Given the description of an element on the screen output the (x, y) to click on. 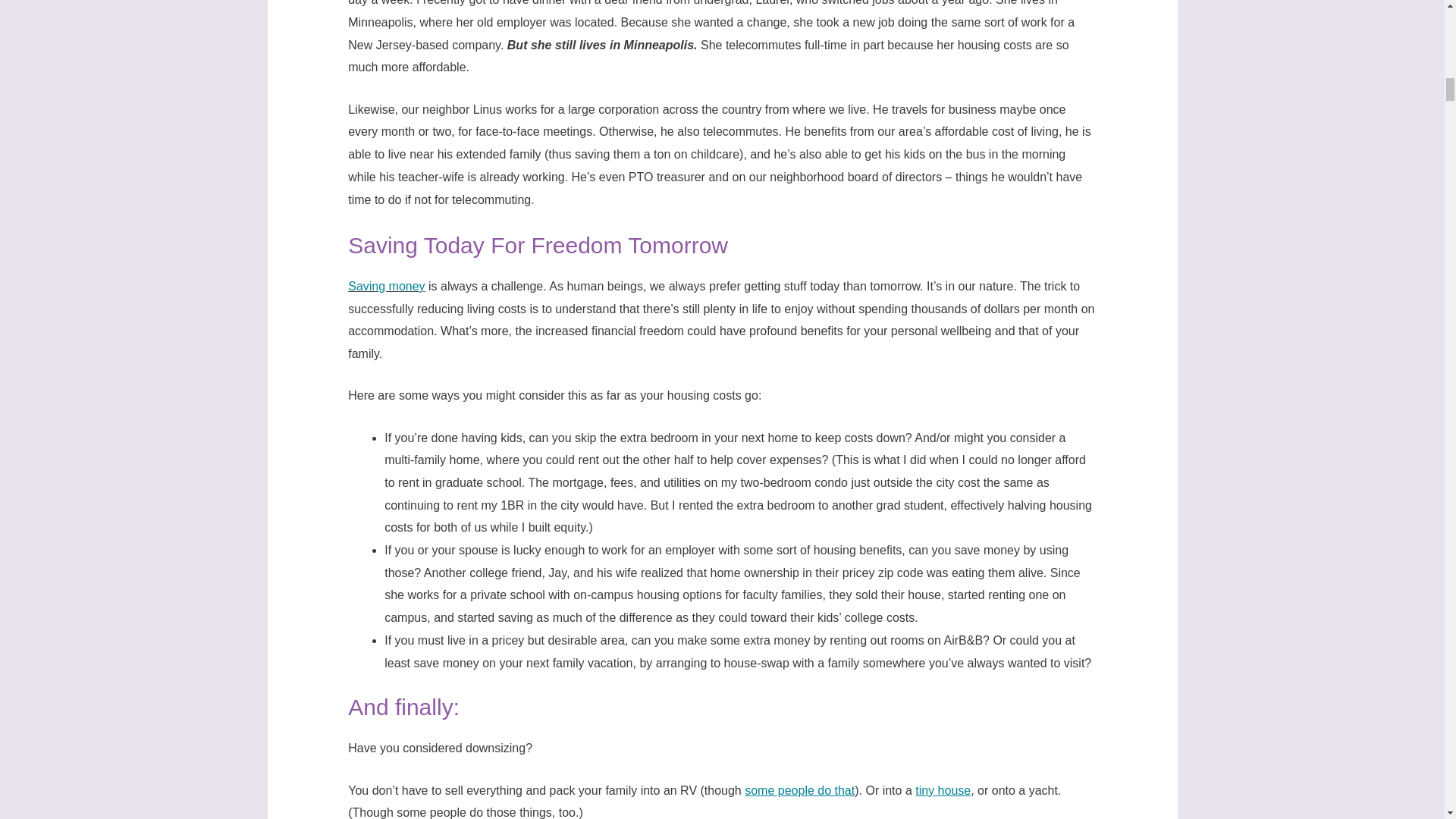
Saving money (386, 286)
some people do that (799, 789)
tiny house (943, 789)
